Given the description of an element on the screen output the (x, y) to click on. 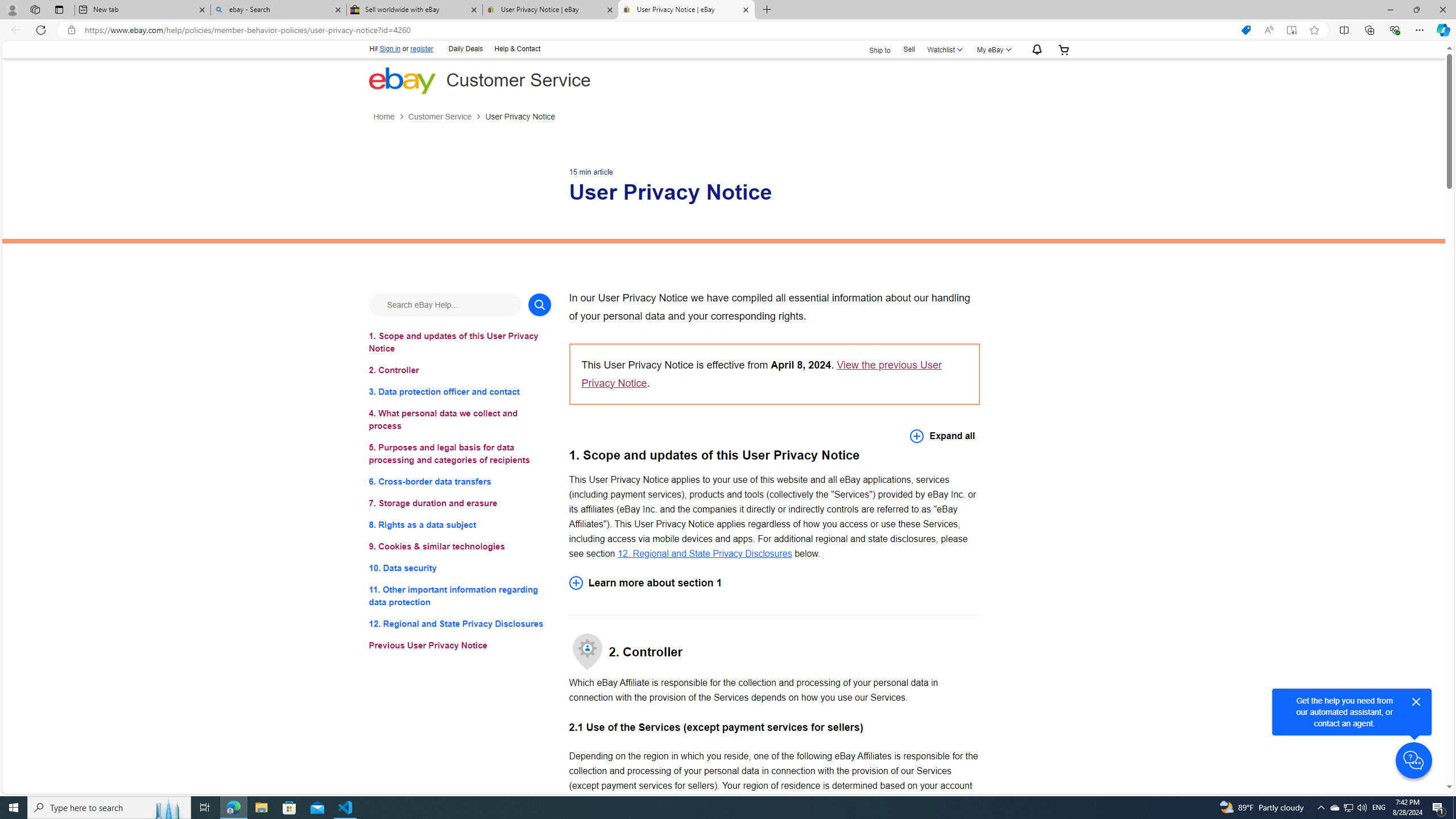
6. Cross-border data transfers (459, 481)
Help & Contact (516, 49)
Watchlist (943, 49)
View the previous User Privacy Notice (761, 373)
Sell (909, 49)
Daily Deals (465, 49)
7. Storage duration and erasure (459, 503)
